Given the description of an element on the screen output the (x, y) to click on. 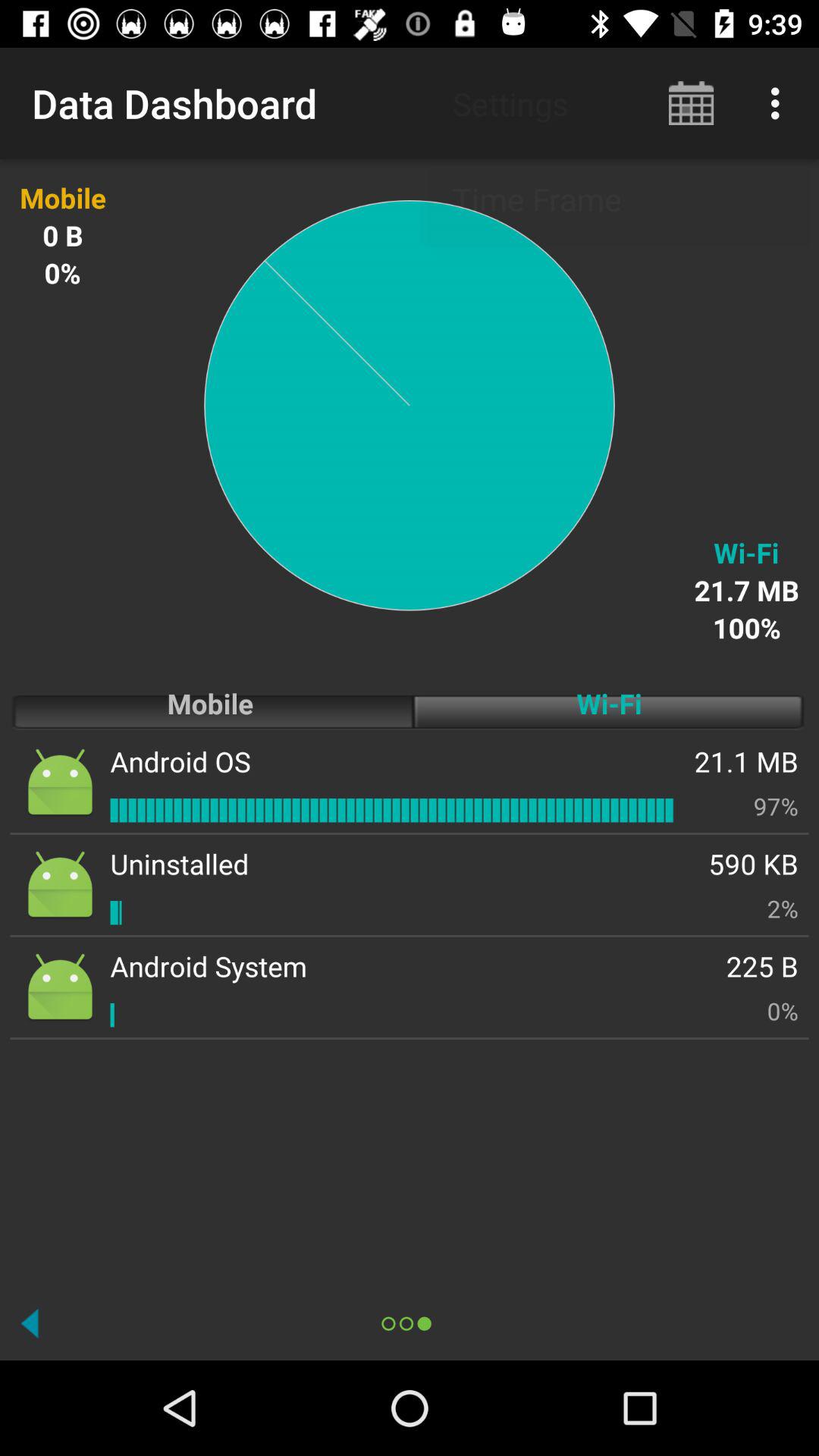
open the app above 225 b item (782, 908)
